Given the description of an element on the screen output the (x, y) to click on. 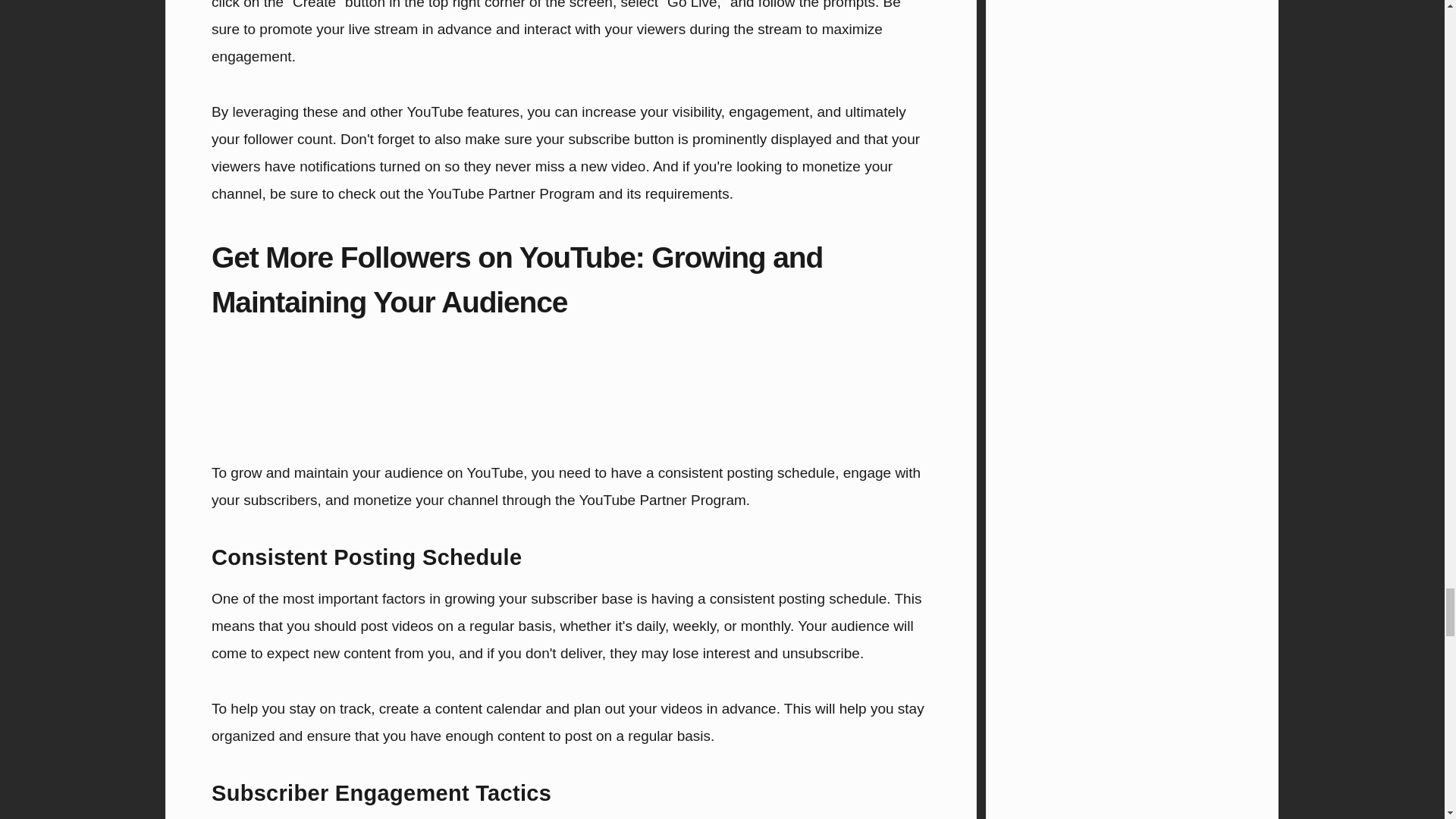
monetize your channel (425, 499)
